Given the description of an element on the screen output the (x, y) to click on. 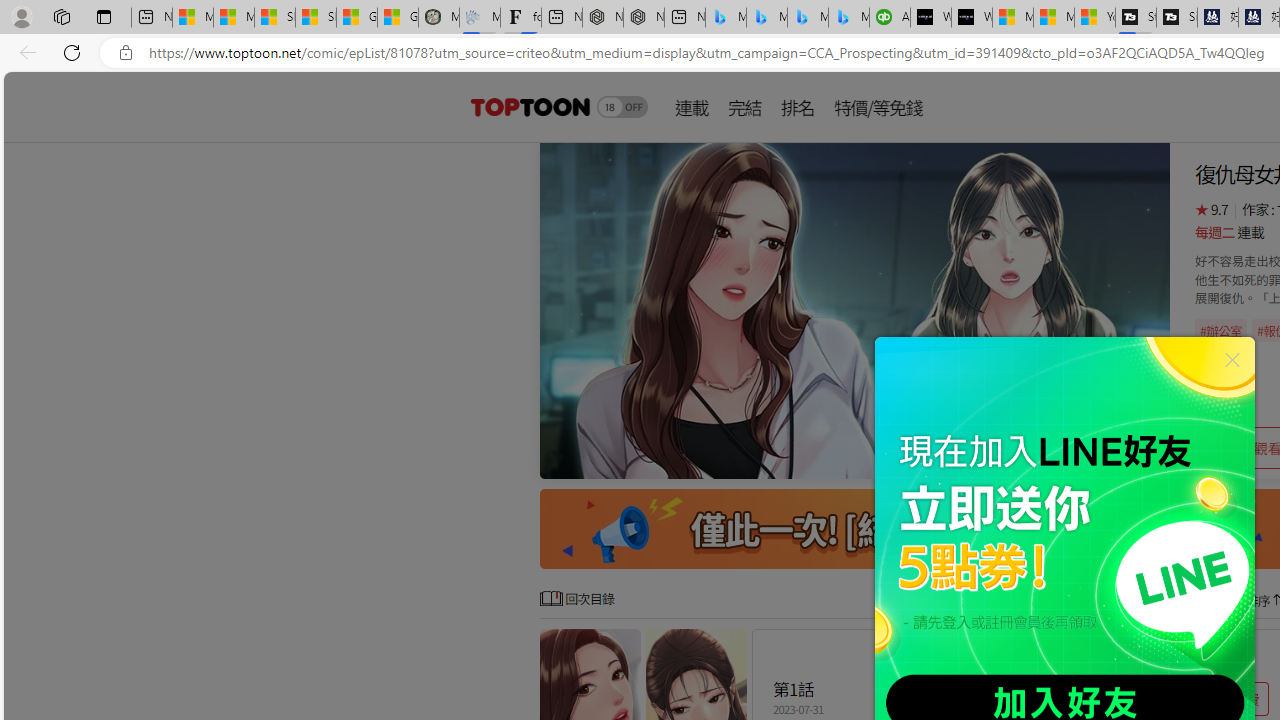
Accounting Software for Accountants, CPAs and Bookkeepers (890, 17)
